Given the description of an element on the screen output the (x, y) to click on. 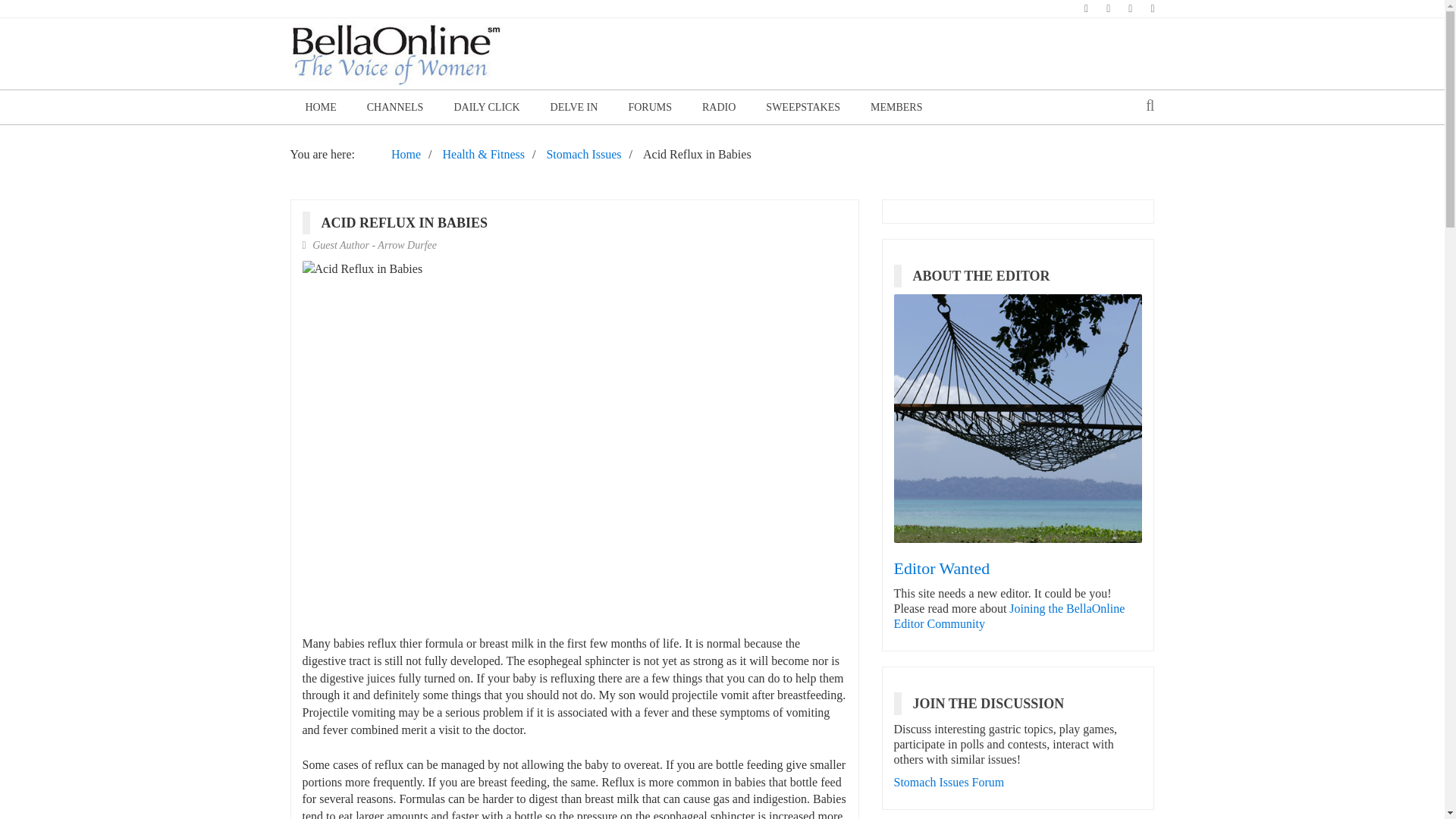
HOME (319, 107)
DAILY CLICK (486, 107)
SWEEPSTAKES (803, 107)
DELVE IN (573, 107)
RADIO (719, 107)
CHANNELS (395, 107)
FORUMS (649, 107)
